Given the description of an element on the screen output the (x, y) to click on. 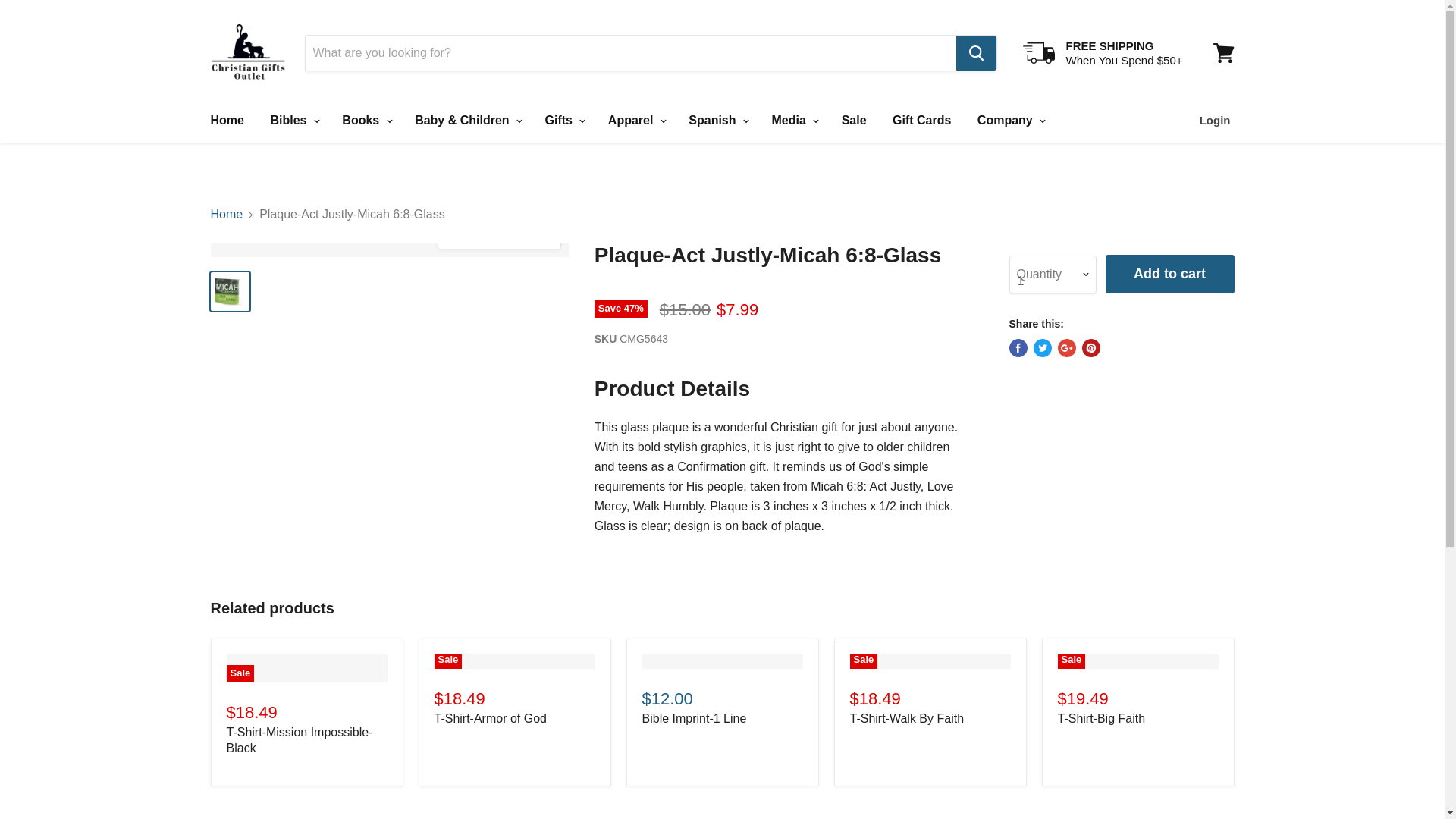
Books (364, 120)
Home (226, 120)
Bibles (292, 120)
View cart (1223, 53)
